Given the description of an element on the screen output the (x, y) to click on. 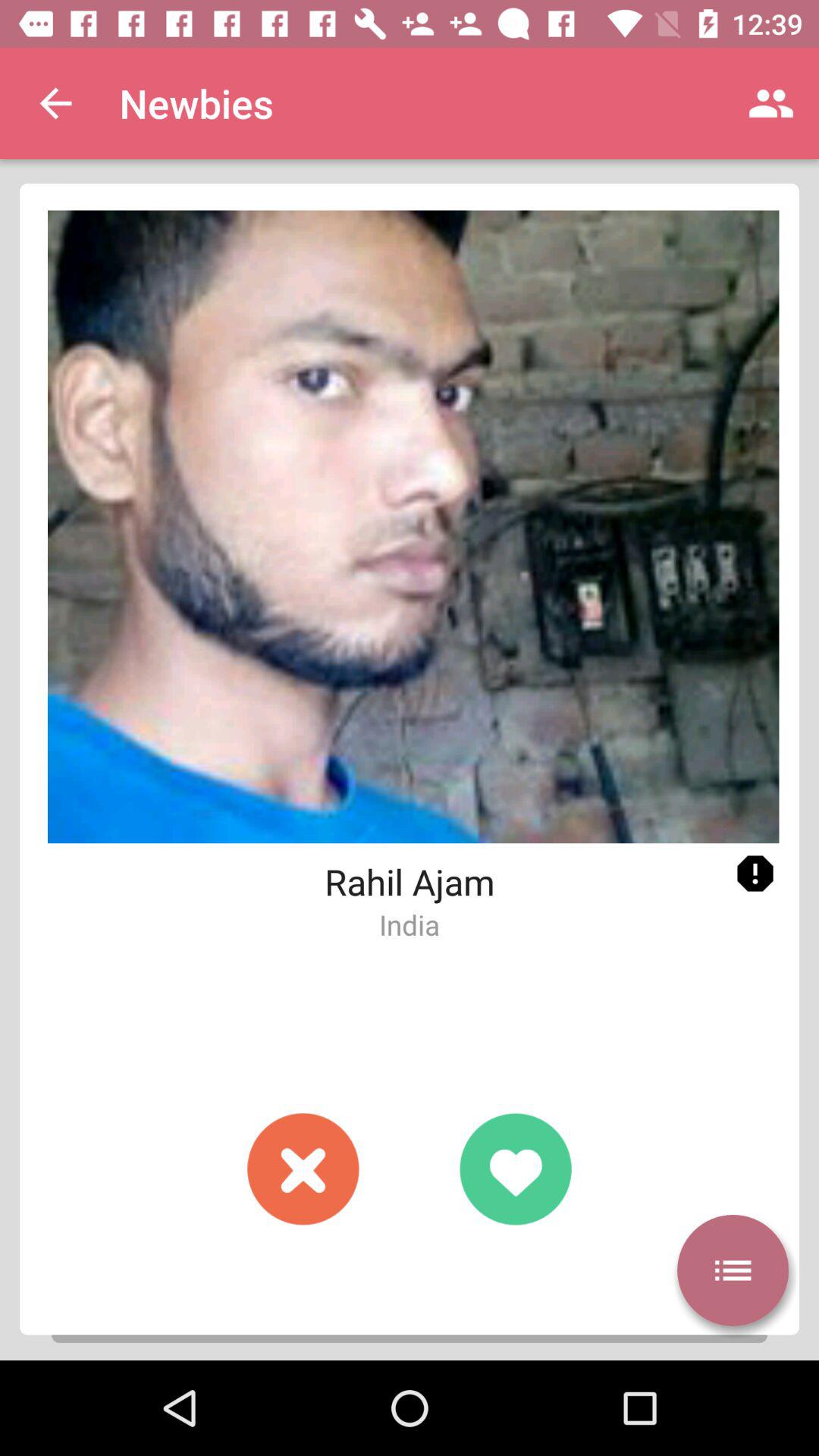
reject (303, 1169)
